Given the description of an element on the screen output the (x, y) to click on. 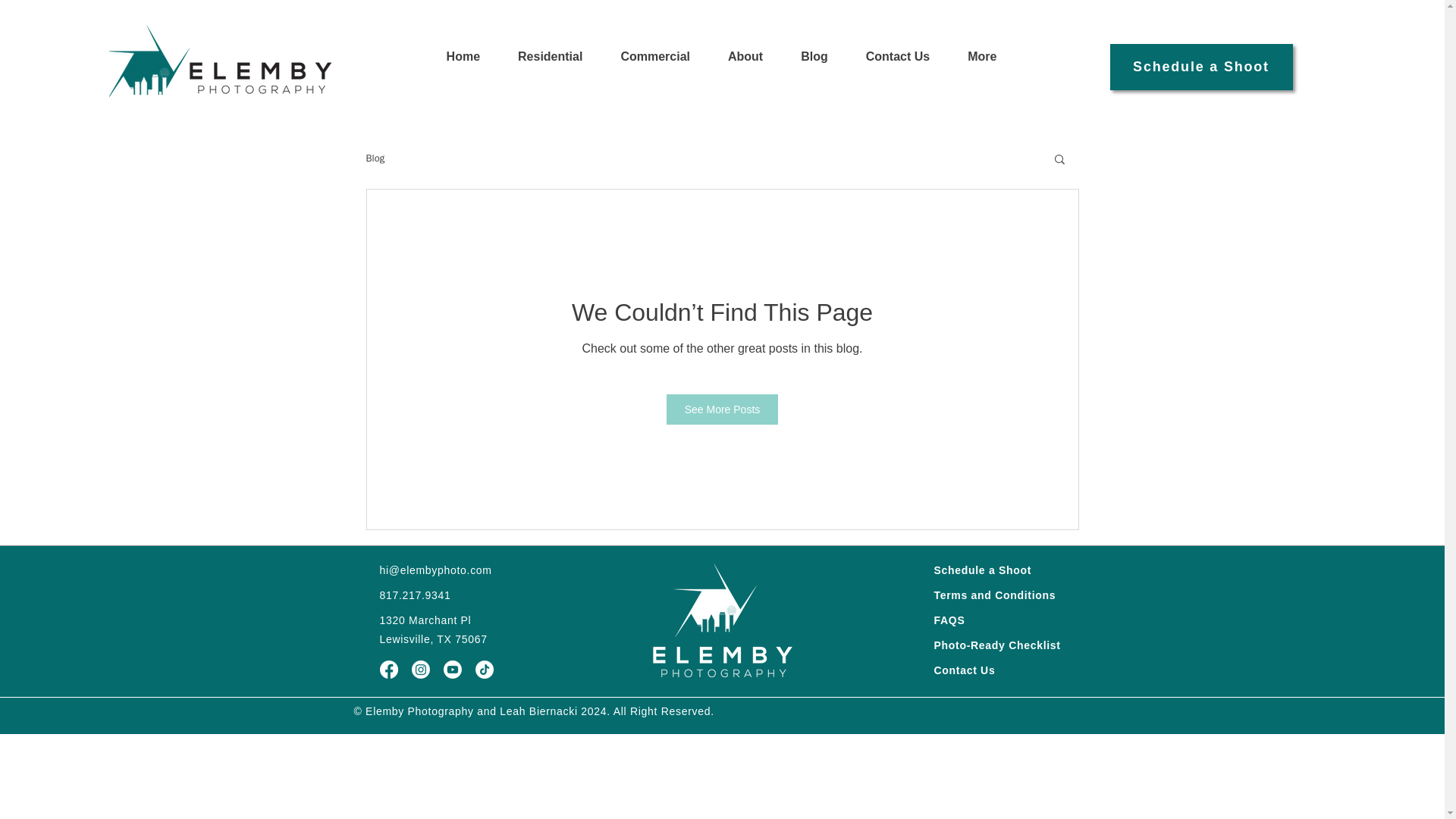
Home (463, 67)
About (745, 67)
Contact Us (898, 67)
Terms and Conditions (995, 594)
Schedule a Shoot (1200, 67)
Blog (814, 67)
Photo-Ready Checklist (997, 645)
Schedule a Shoot (983, 570)
See More Posts (722, 409)
Commercial (655, 67)
